Given the description of an element on the screen output the (x, y) to click on. 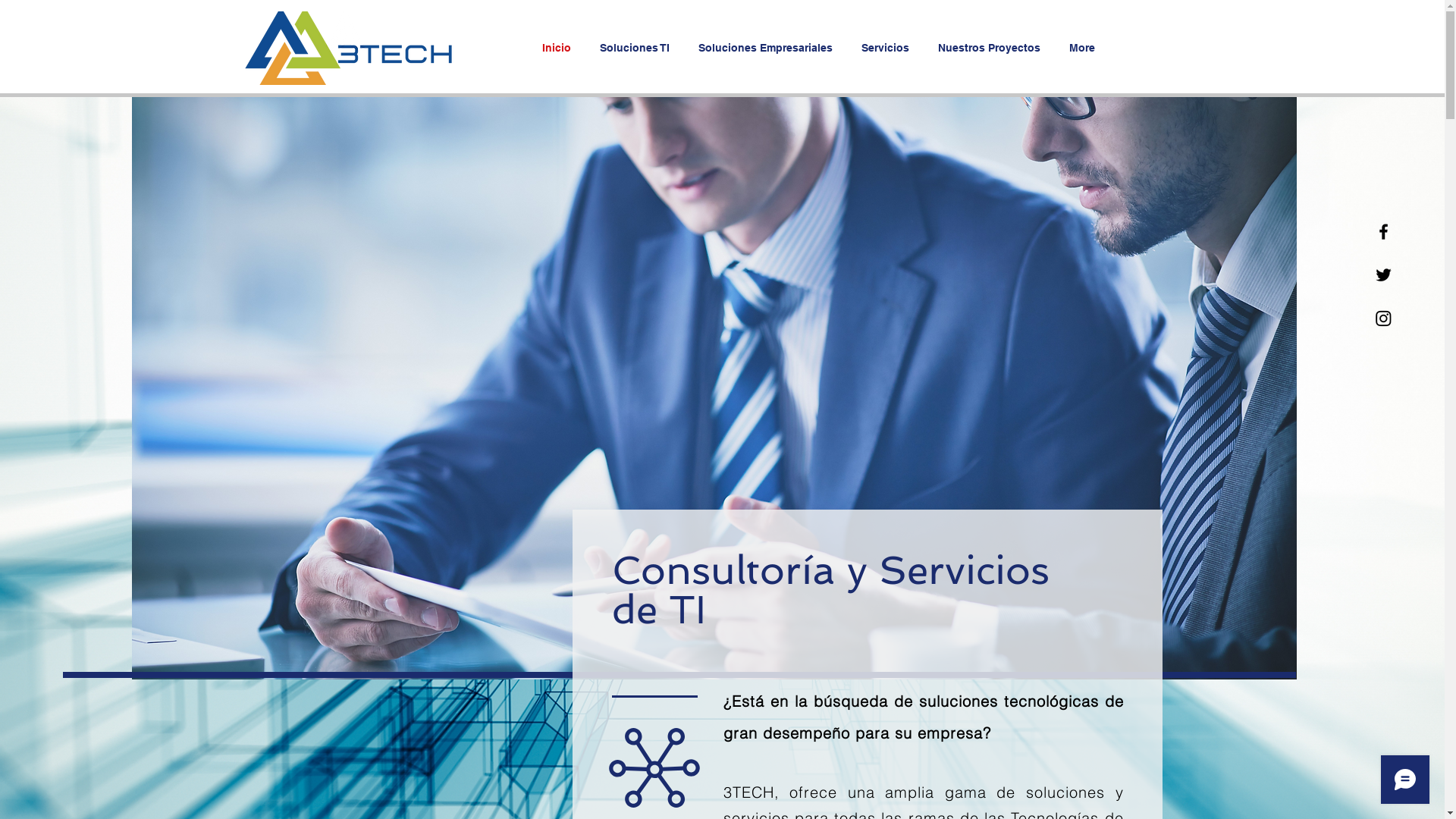
Soluciones Empresariales Element type: text (768, 47)
Nuestros Proyectos Element type: text (991, 47)
Servicios Element type: text (887, 47)
Inicio Element type: text (559, 47)
Soluciones TI Element type: text (637, 47)
LOGO 3TECH TRANSPARENTE.png Element type: hover (344, 47)
1.png Element type: hover (713, 388)
